Given the description of an element on the screen output the (x, y) to click on. 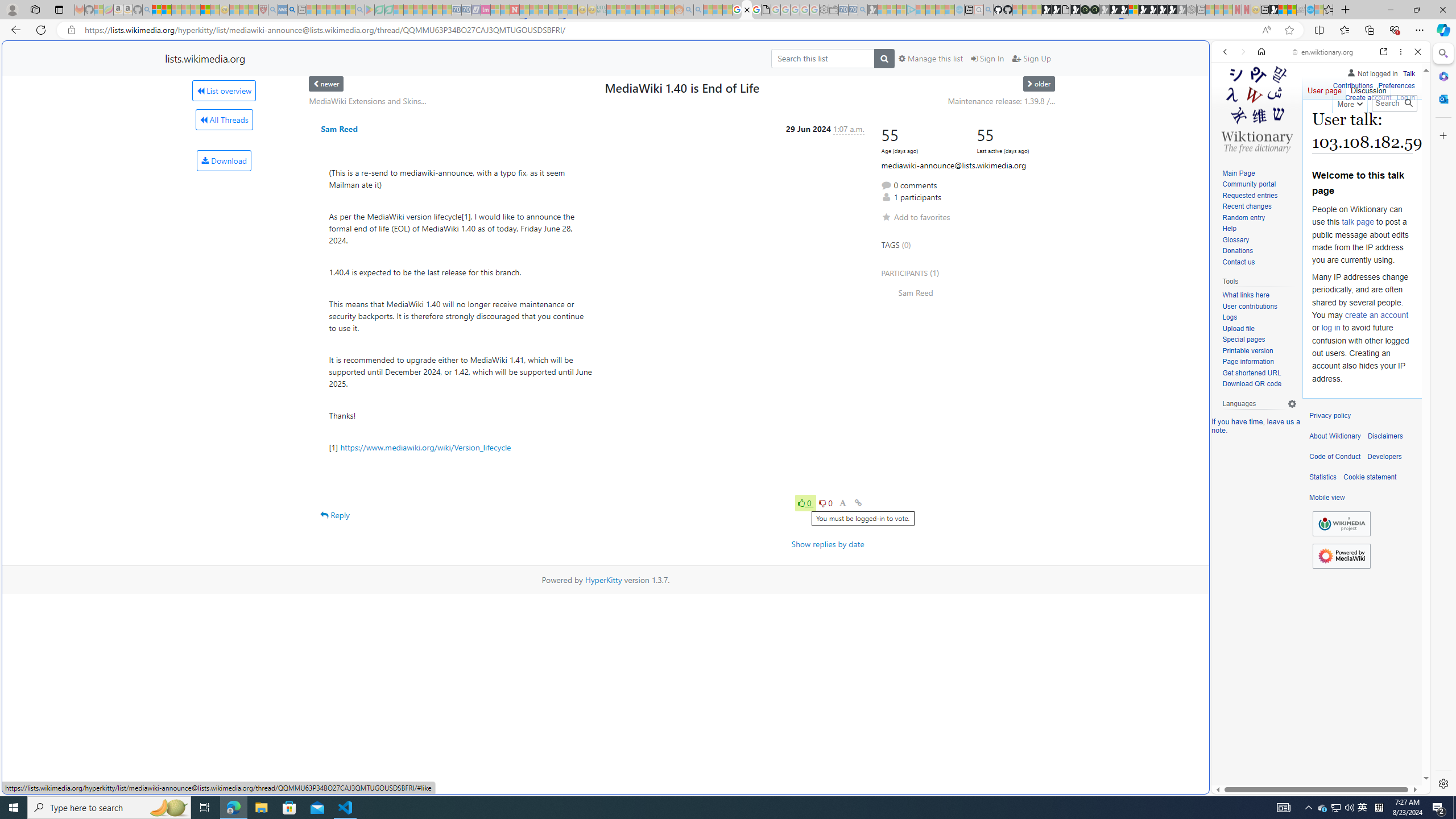
Requested entries (1259, 196)
Get shortened URL (1259, 373)
User page (1324, 87)
Contributions (1352, 84)
